Given the description of an element on the screen output the (x, y) to click on. 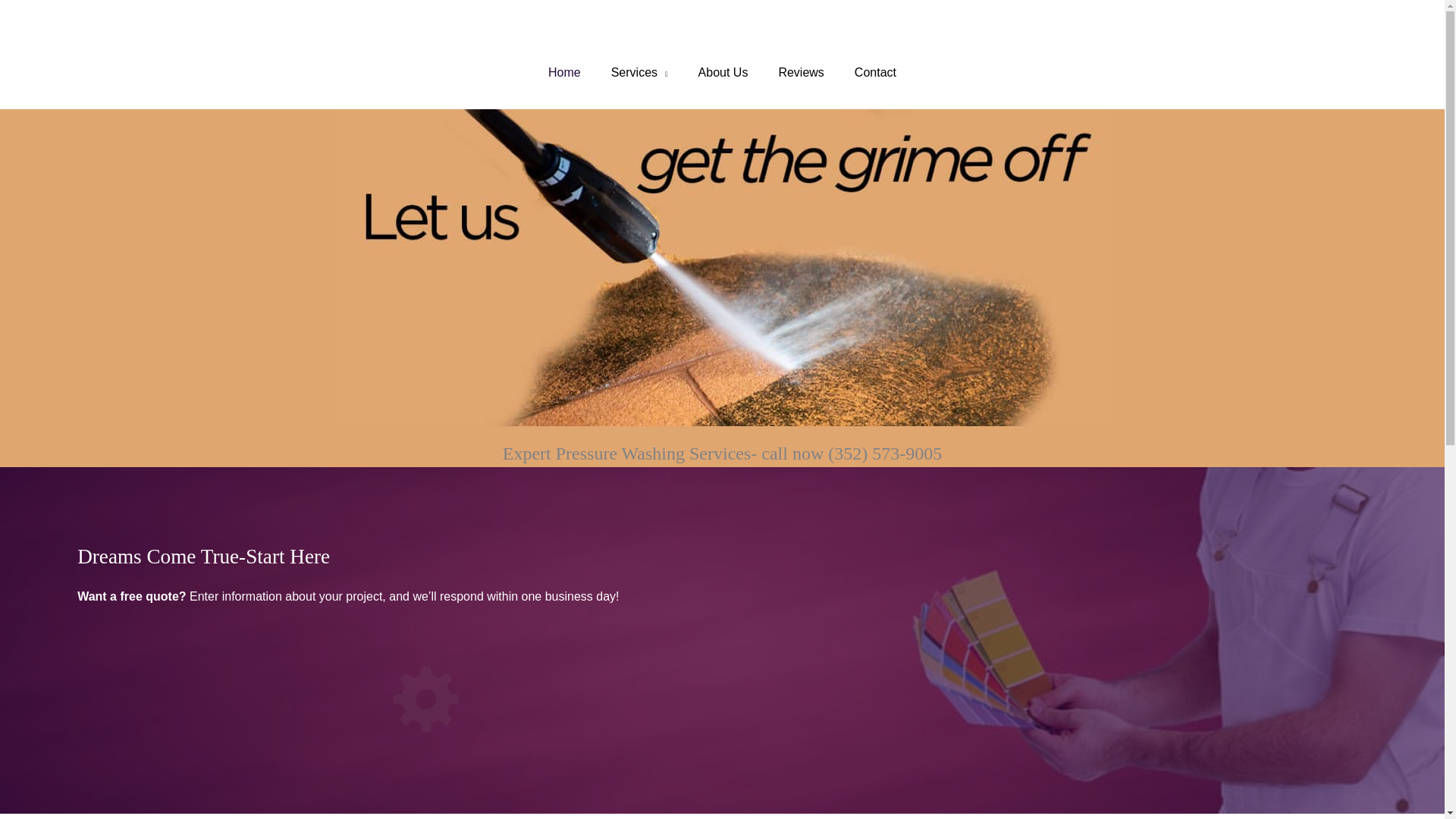
Home (563, 72)
About Us (722, 72)
Reviews (800, 72)
Services (638, 72)
Contact (875, 72)
